Given the description of an element on the screen output the (x, y) to click on. 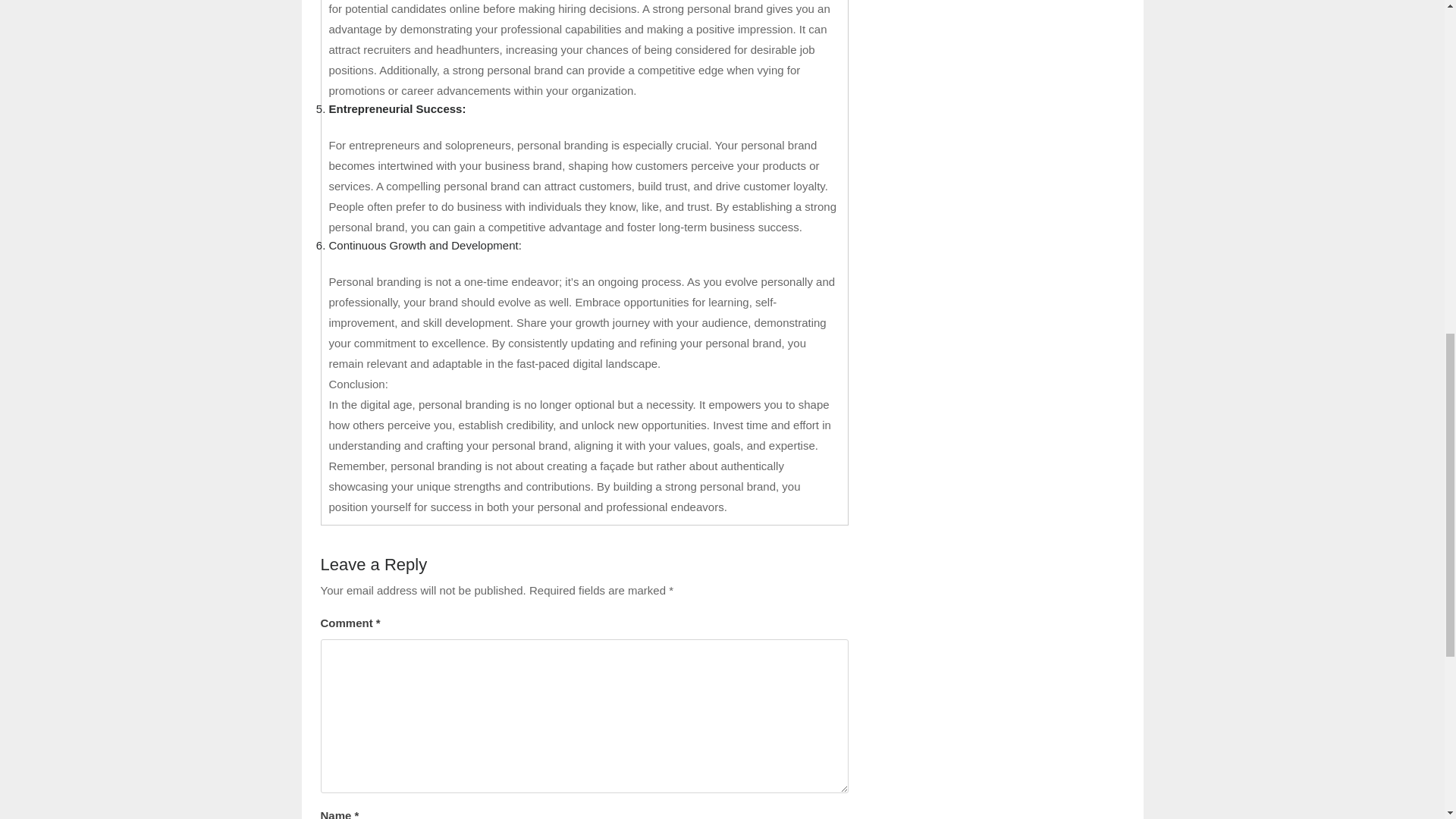
TOP (1397, 73)
